Given the description of an element on the screen output the (x, y) to click on. 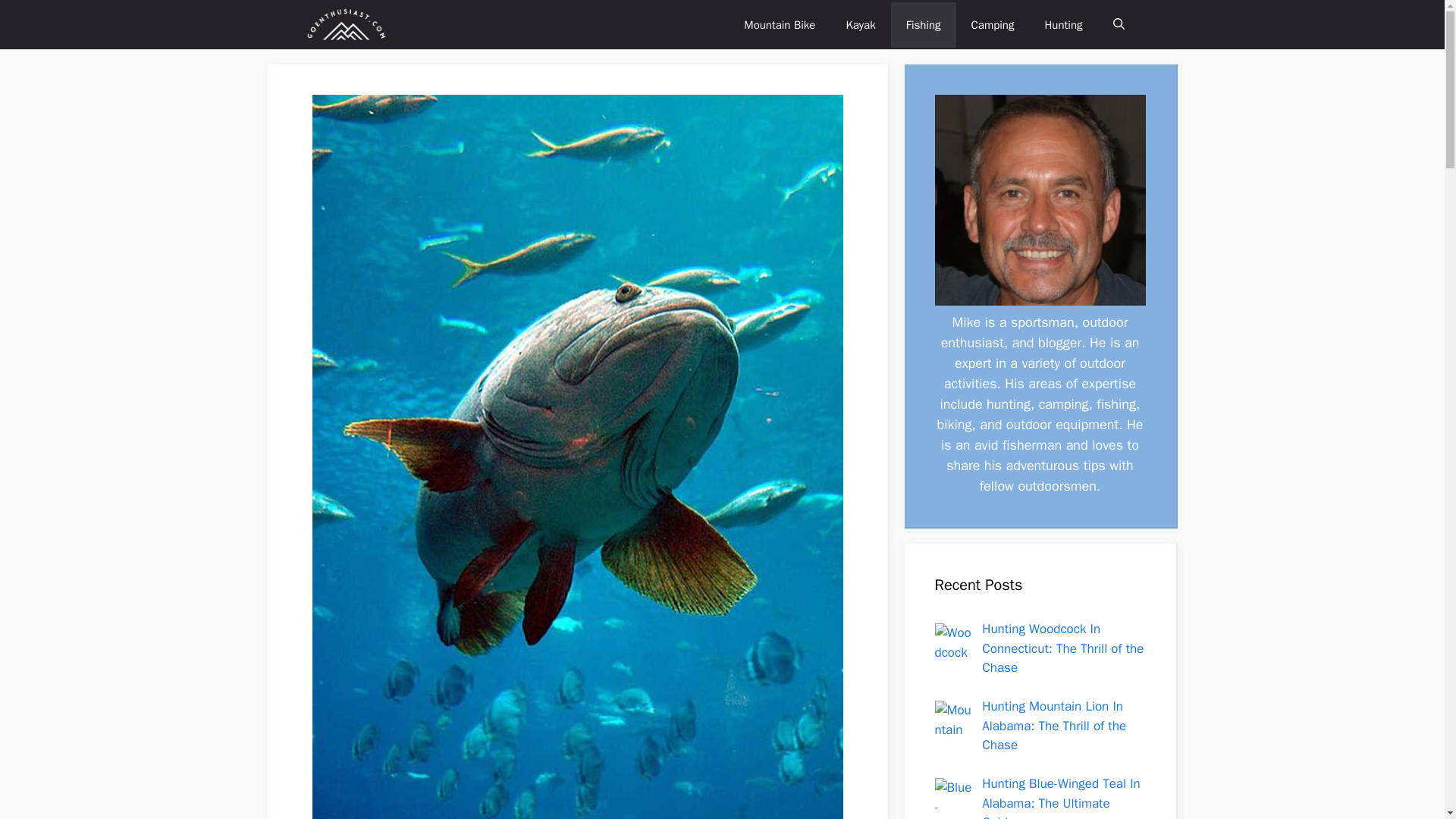
Hunting Mountain Lion In Alabama: The Thrill of the Chase (1053, 725)
Camping (992, 23)
Fishing (923, 23)
Kayak (859, 23)
Hunting Blue-Winged Teal In Alabama: The Ultimate Guide (1060, 797)
Hunting Woodcock In Connecticut: The Thrill of the Chase (1061, 647)
Mountain Bike (779, 23)
Hunting (1063, 23)
Goenthusiast (345, 24)
